Given the description of an element on the screen output the (x, y) to click on. 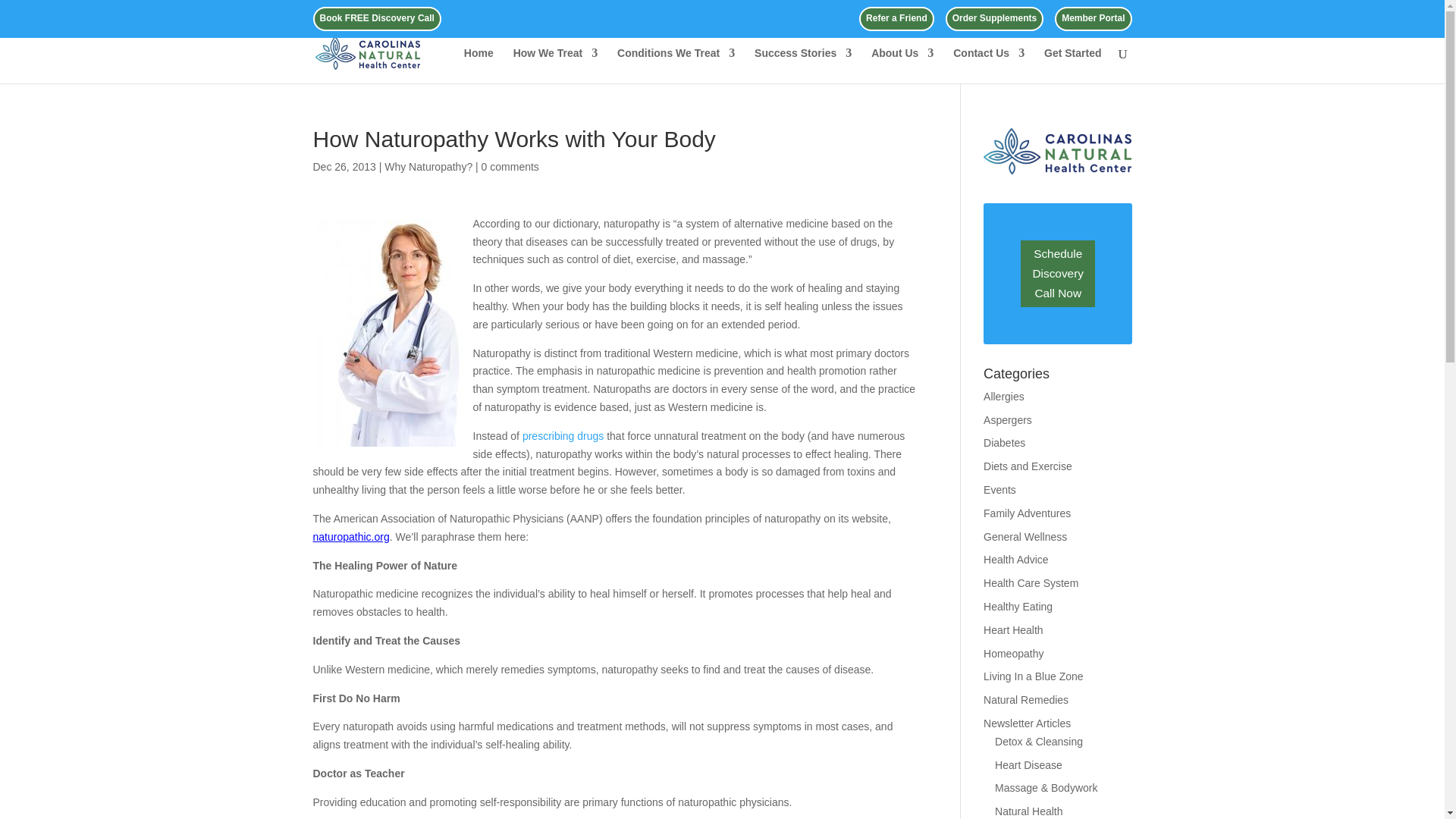
Contact Us (989, 65)
Book FREE Discovery Call (376, 21)
Success Stories (802, 65)
Conditions We Treat (676, 65)
How We Treat (555, 65)
Refer a Friend (896, 21)
About Us (901, 65)
Order Supplements (994, 21)
Get Started (1071, 65)
The Financial Benefits of Natural Health Care (563, 435)
